Given the description of an element on the screen output the (x, y) to click on. 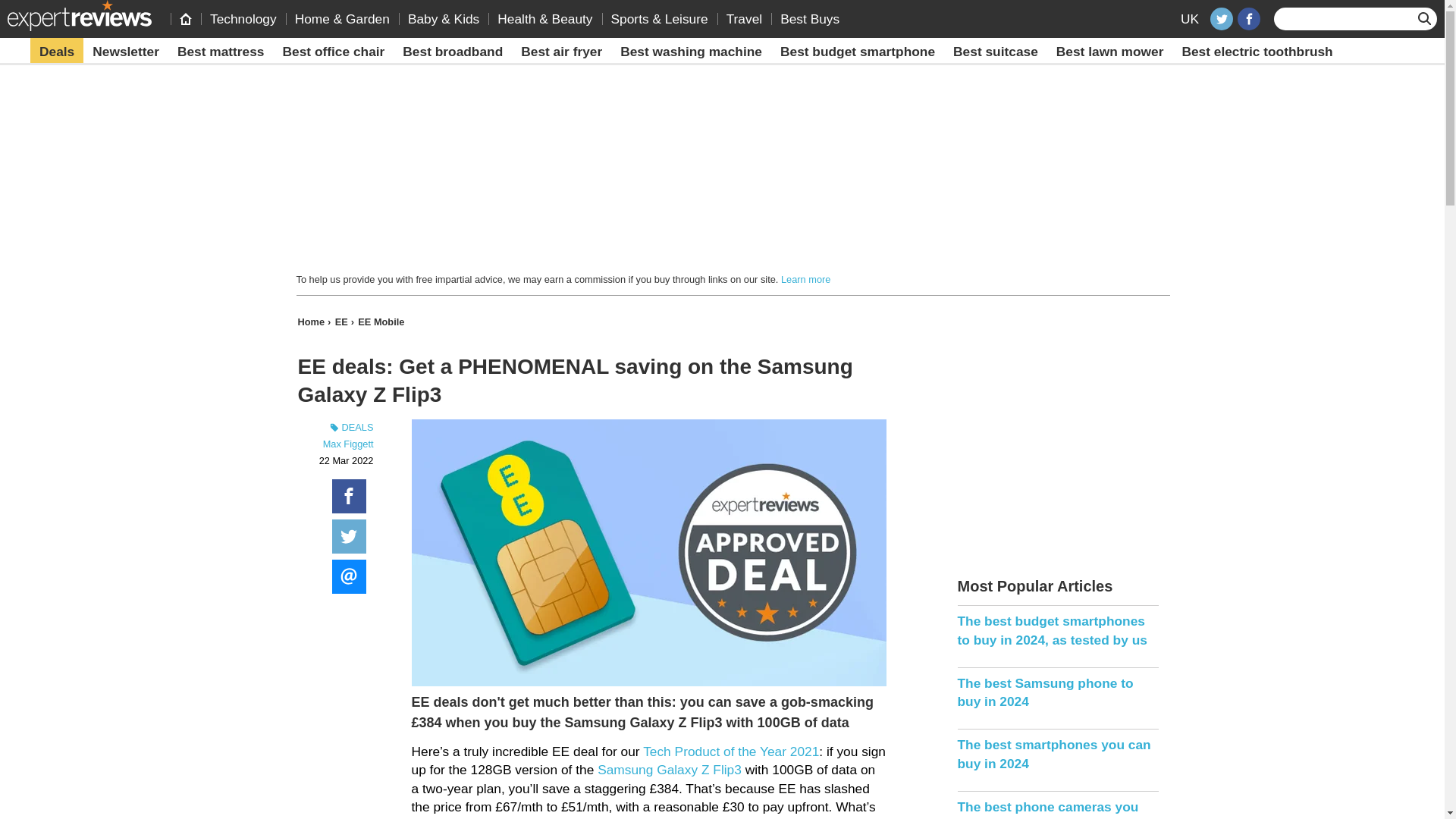
Expert Reviews (79, 15)
Best Buys (809, 18)
Best budget smartphone (857, 51)
Best suitcase (994, 51)
Best office chair (333, 51)
Best mattress (220, 51)
EE Mobile (381, 321)
Tech Product of the Year 2021 (730, 751)
Learn more (804, 279)
Samsung Galaxy Z Flip3 (668, 769)
Newsletter (125, 51)
Travel (744, 18)
Deals (56, 51)
Best lawn mower (1109, 51)
Best washing machine (691, 51)
